Given the description of an element on the screen output the (x, y) to click on. 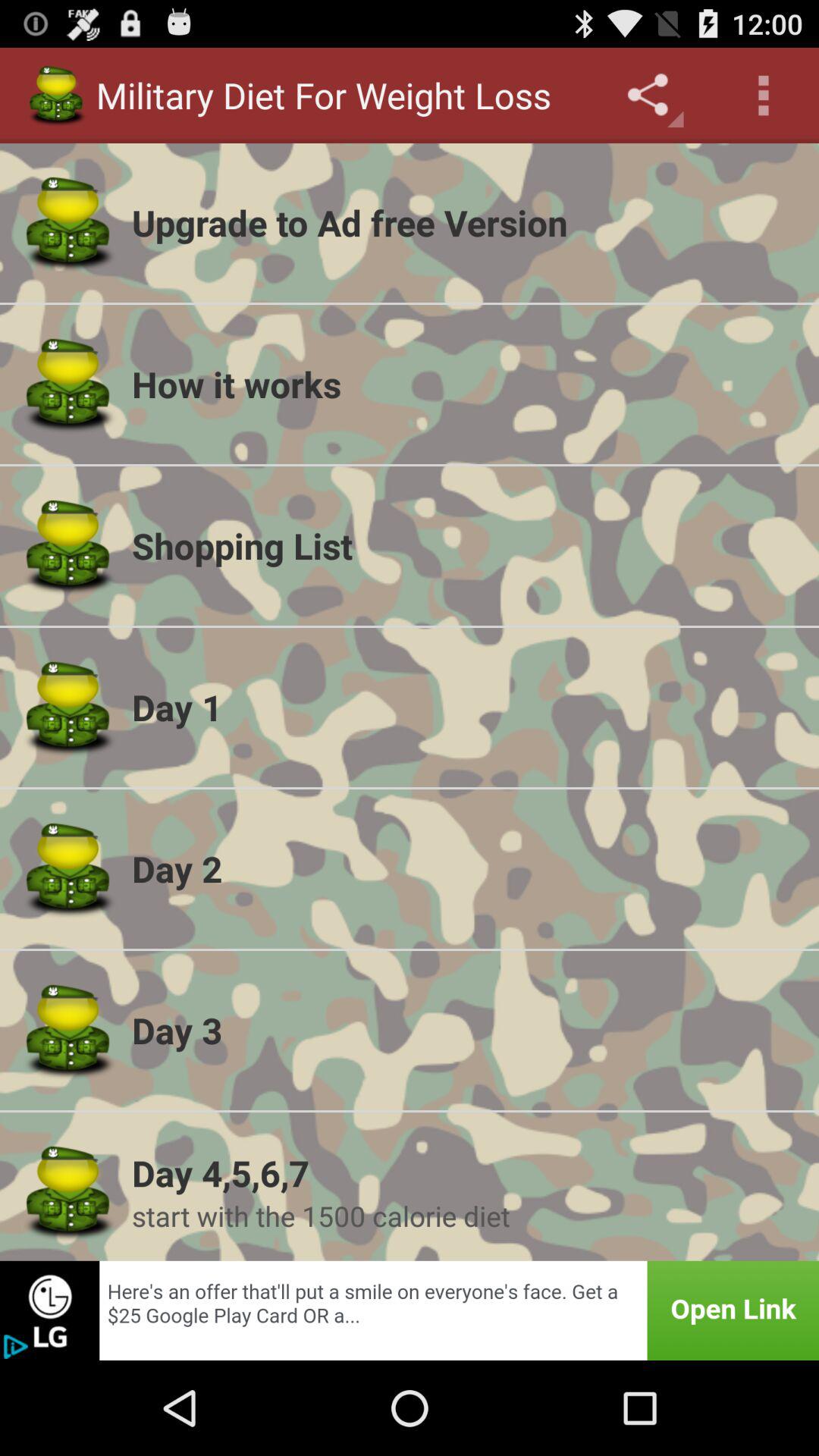
scroll to the start with the item (465, 1215)
